Given the description of an element on the screen output the (x, y) to click on. 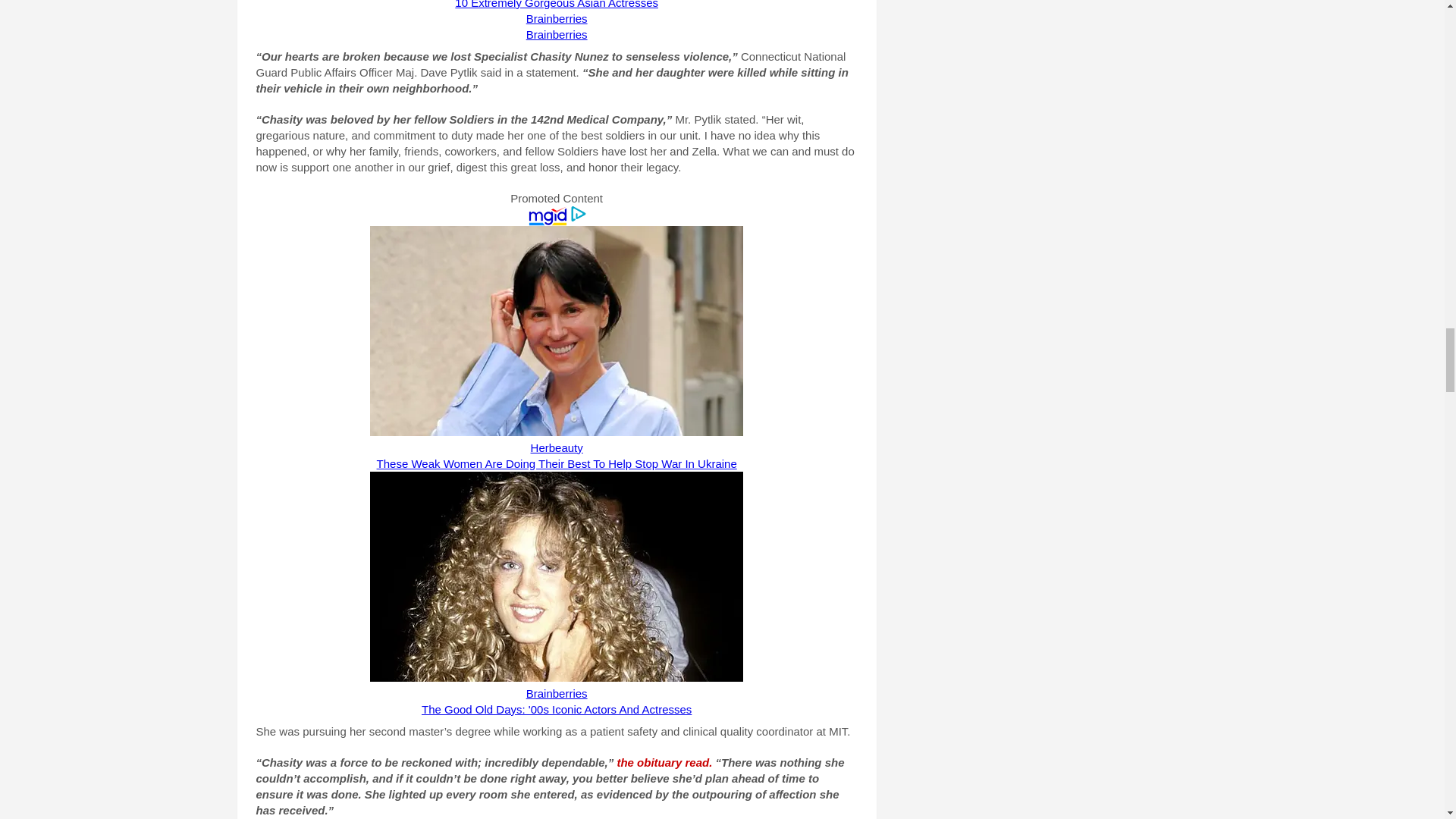
the obituary read. (664, 762)
